Given the description of an element on the screen output the (x, y) to click on. 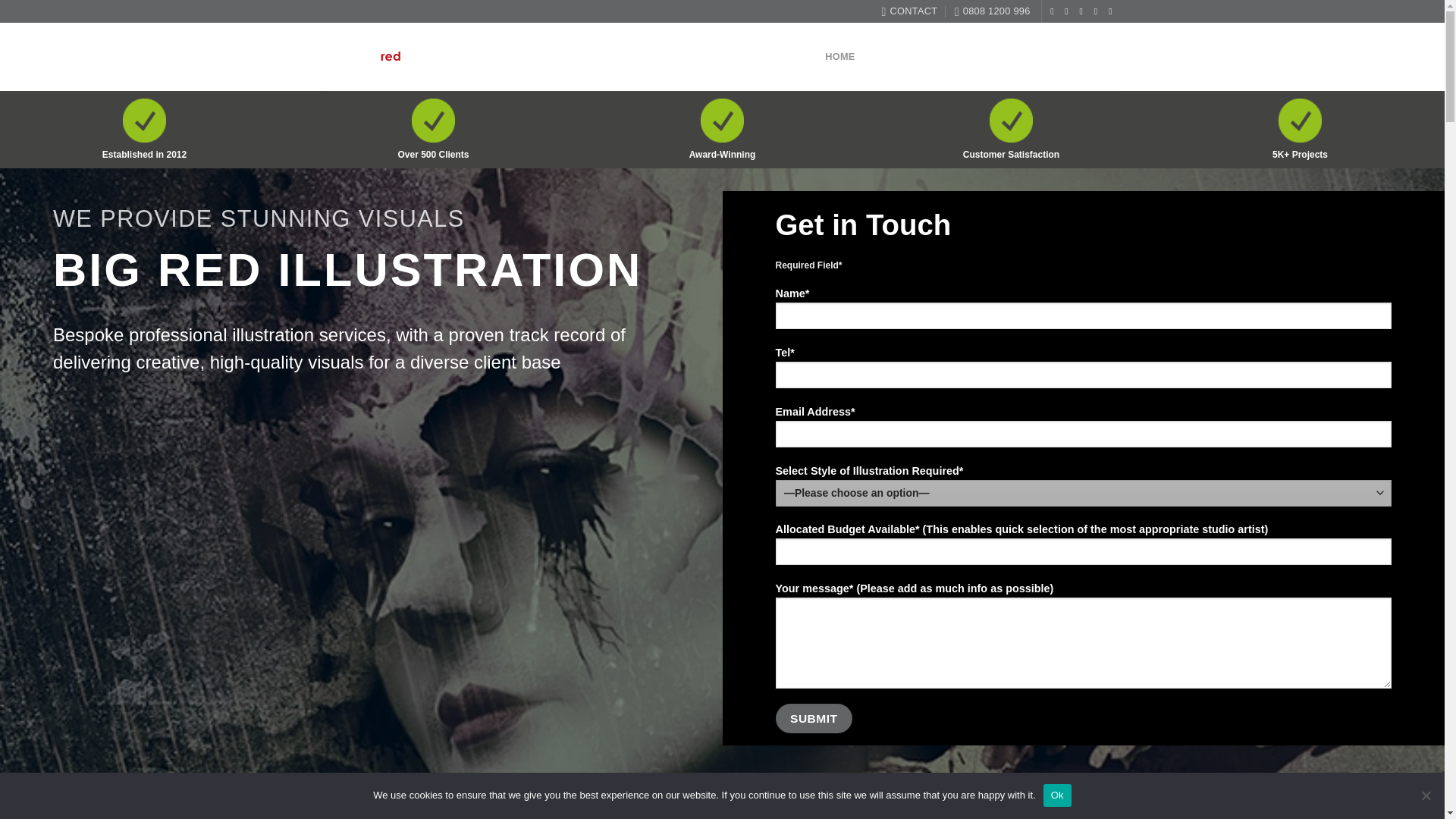
0808 1200 996 (992, 11)
HOME (839, 56)
CONTACT (1095, 56)
ABOUT US (892, 56)
CONTACT (908, 11)
0808 1200 996 (992, 11)
Submit (812, 718)
Submit (812, 718)
ILLUSTRATION SERVICES (994, 57)
